Given the description of an element on the screen output the (x, y) to click on. 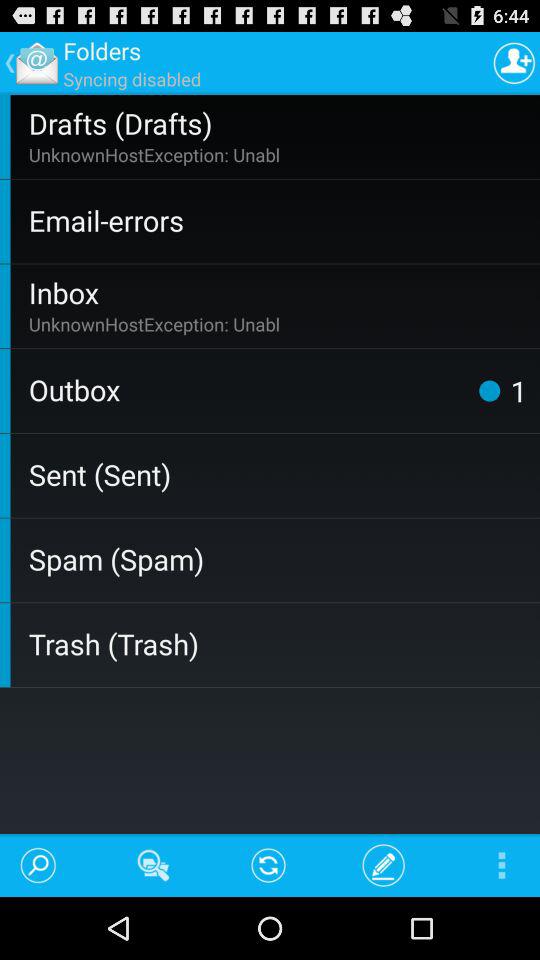
tap icon above the unknownhostexception: unabl item (280, 122)
